Given the description of an element on the screen output the (x, y) to click on. 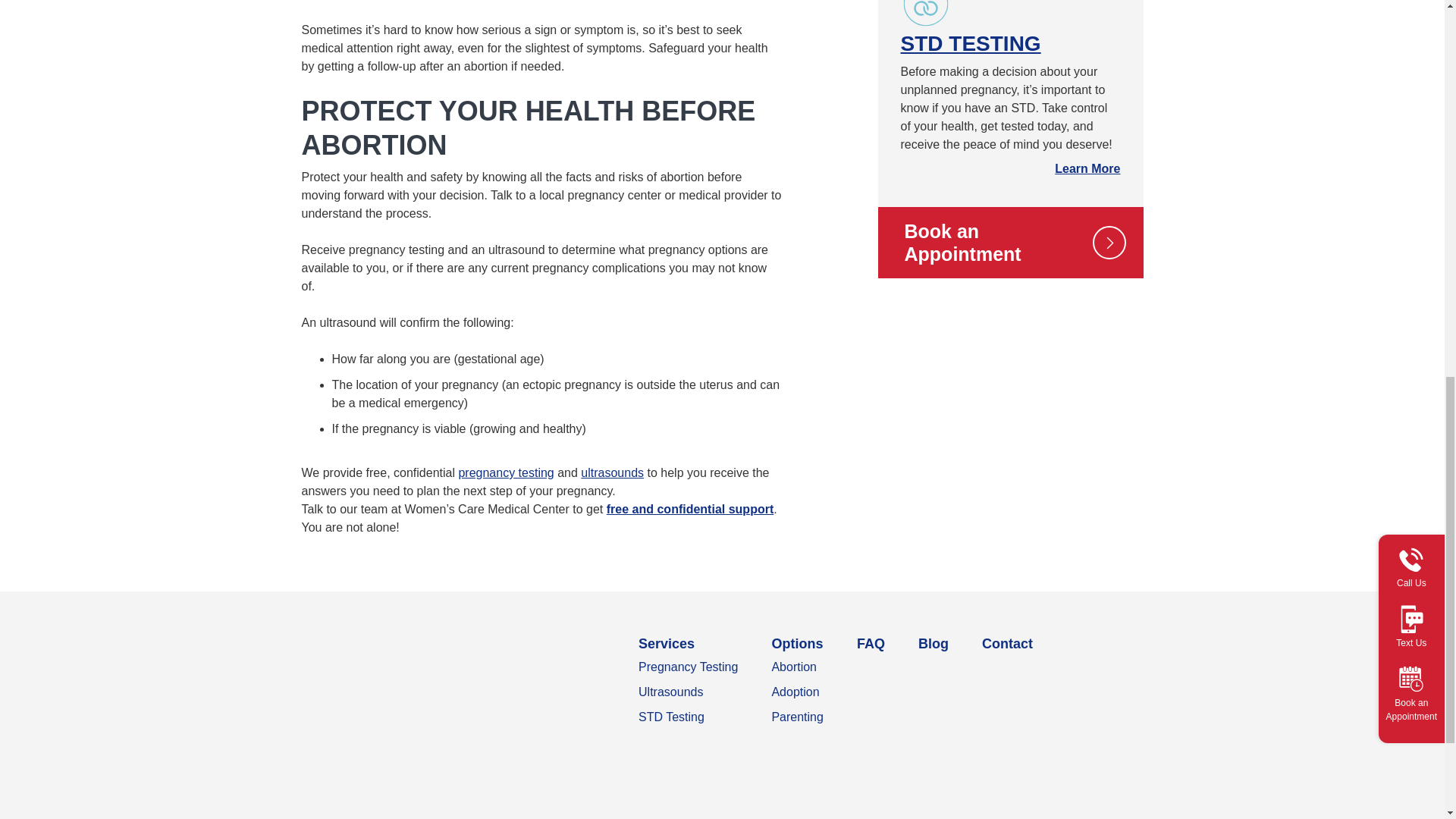
STD TESTING (971, 43)
pregnancy testing (505, 472)
ultrasounds (611, 472)
free and confidential support (690, 508)
Learn More (1086, 168)
